Given the description of an element on the screen output the (x, y) to click on. 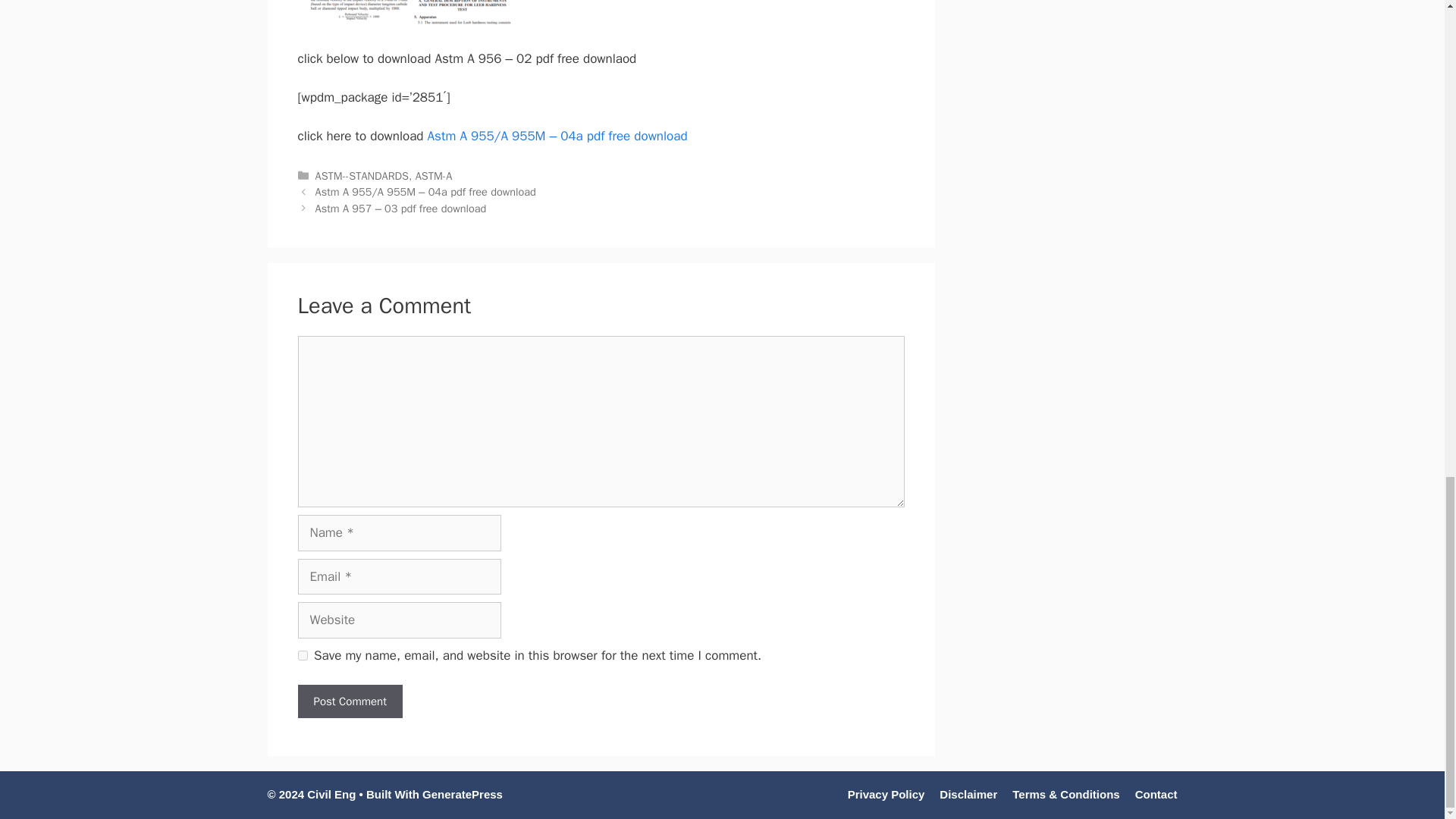
ASTM-A (432, 175)
yes (302, 655)
Privacy Policy (885, 793)
Post Comment (349, 701)
Disclaimer (968, 793)
ASTM--STANDARDS (362, 175)
Contact (1156, 793)
Post Comment (349, 701)
GeneratePress (462, 793)
Scroll back to top (1406, 388)
